Given the description of an element on the screen output the (x, y) to click on. 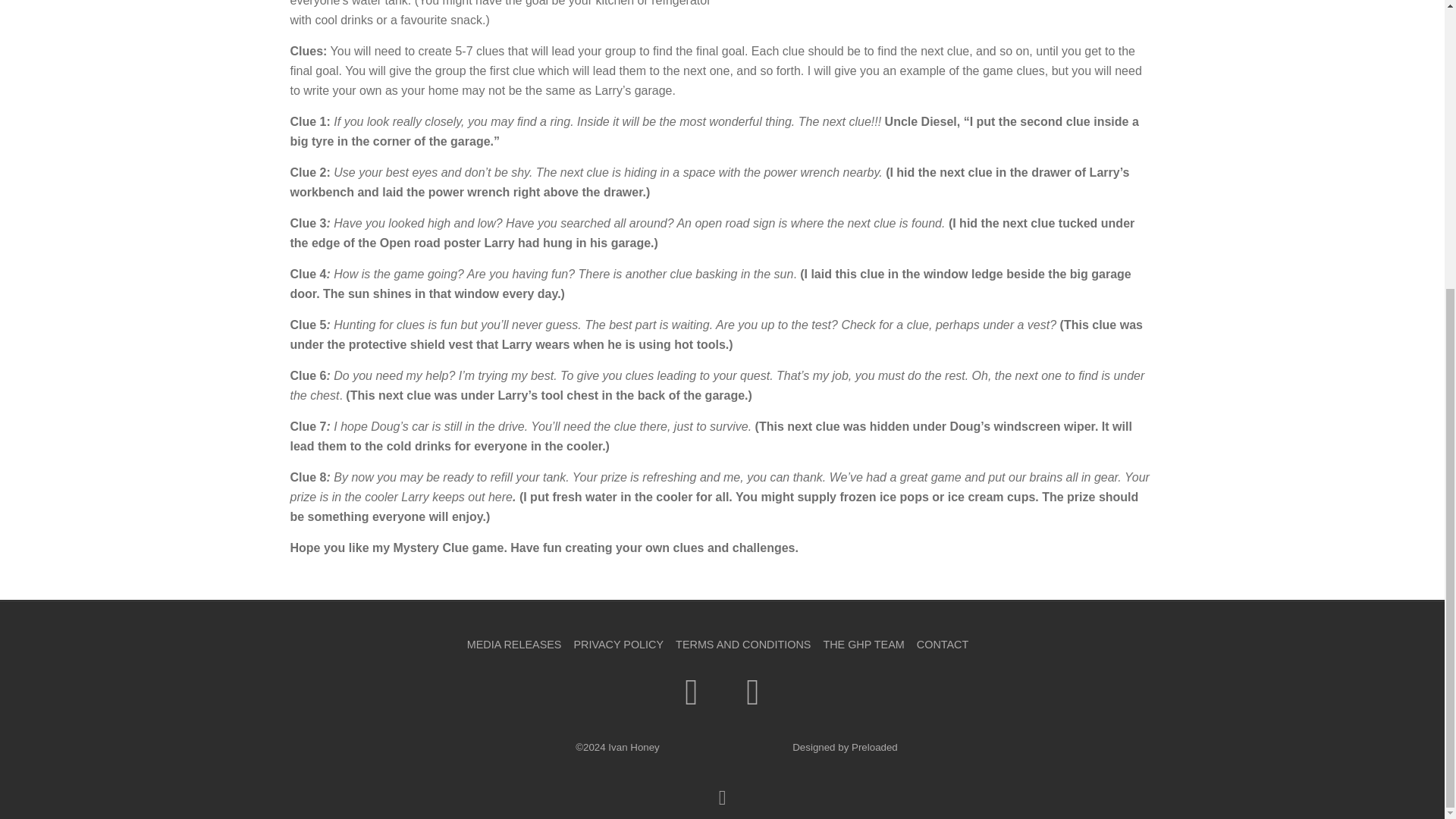
The GHP Team (863, 644)
PRIVACY POLICY (618, 644)
TERMS AND CONDITIONS (742, 644)
Terms and Conditions (742, 644)
MEDIA RELEASES (514, 644)
Contact (942, 644)
Privacy Policy (618, 644)
Media Releases (514, 644)
Check us out! (874, 747)
